Given the description of an element on the screen output the (x, y) to click on. 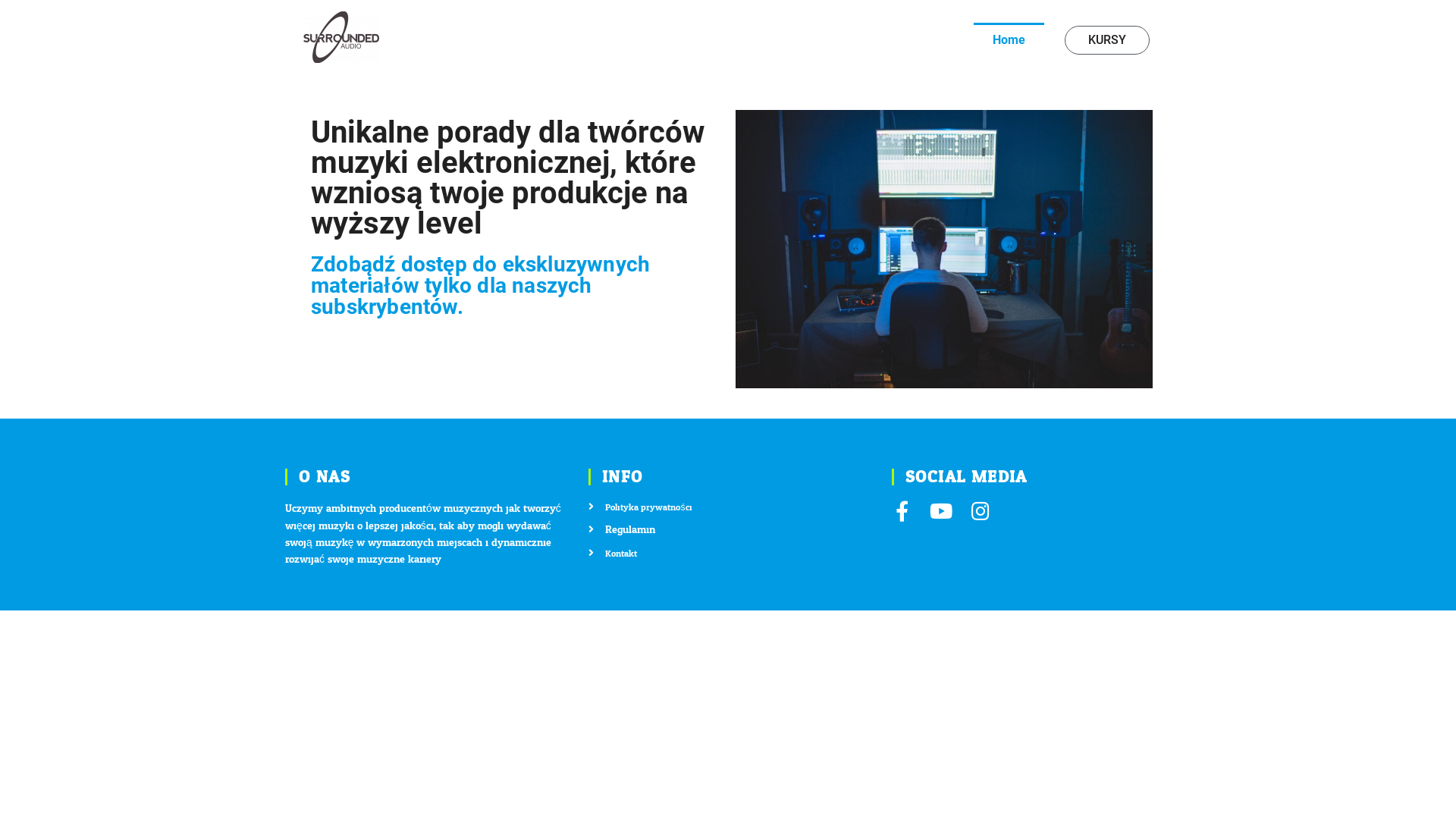
KURSY Element type: text (1106, 39)
Home Element type: text (1008, 39)
Kontakt Element type: text (727, 553)
